Given the description of an element on the screen output the (x, y) to click on. 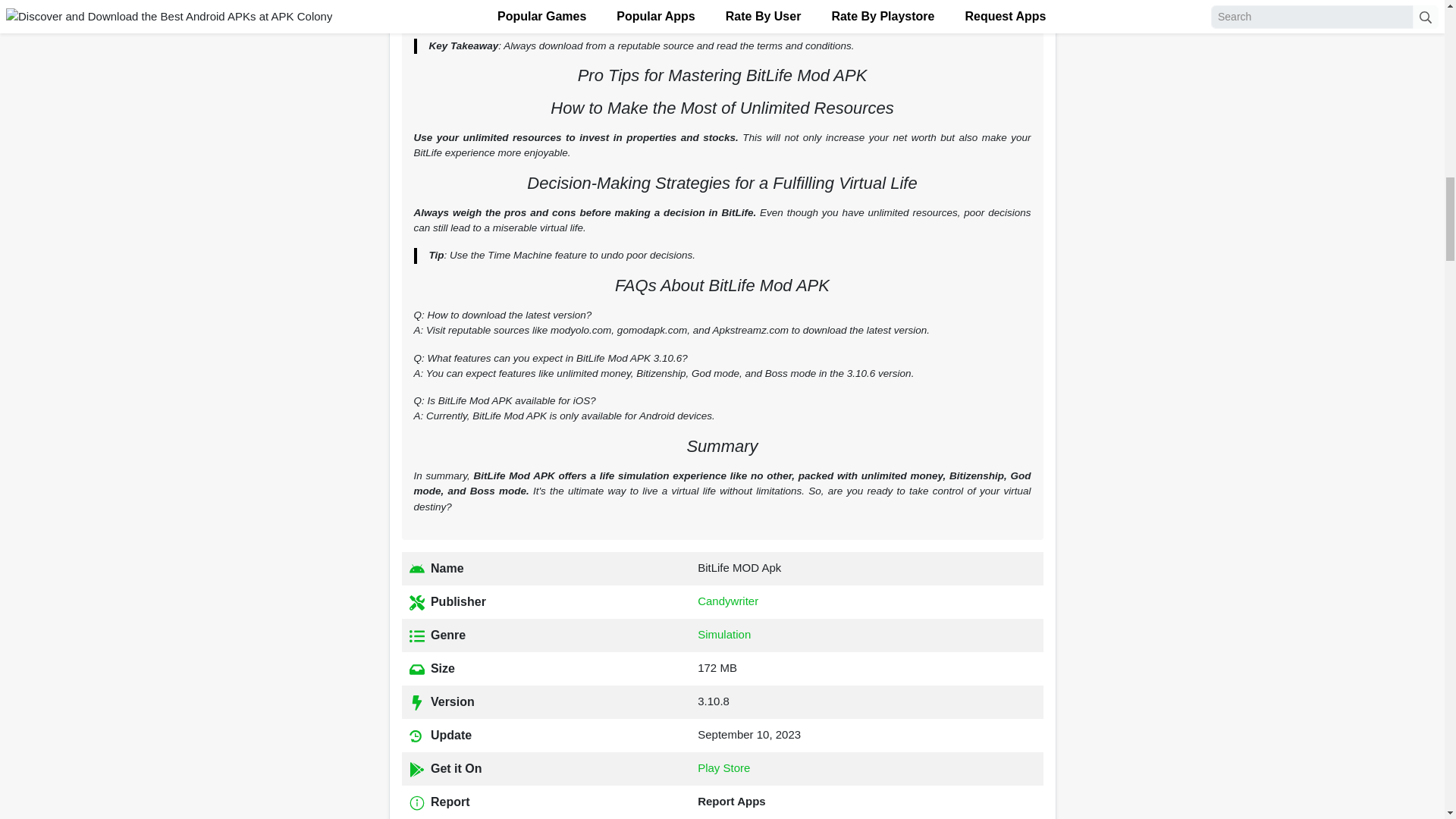
Developer by Candywriter (727, 600)
Candywriter (727, 600)
Simulation (724, 634)
Play Store (723, 767)
